Given the description of an element on the screen output the (x, y) to click on. 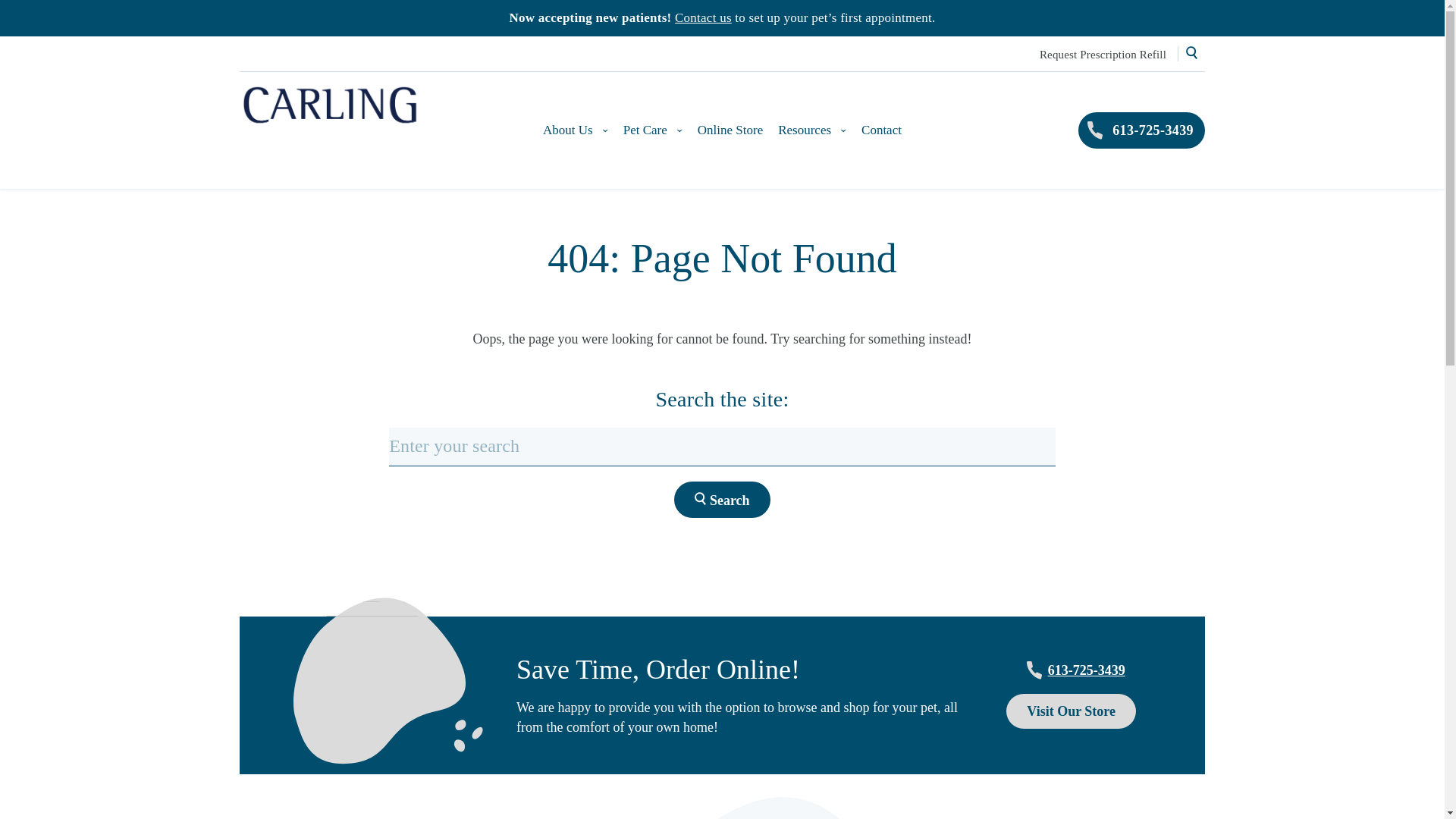
Contact us (703, 17)
Online Store (729, 130)
Request Prescription Refill (1102, 54)
613-725-3439 (1141, 130)
Resources (811, 130)
About Us (575, 130)
Contact (881, 130)
Pet Care (652, 130)
